Given the description of an element on the screen output the (x, y) to click on. 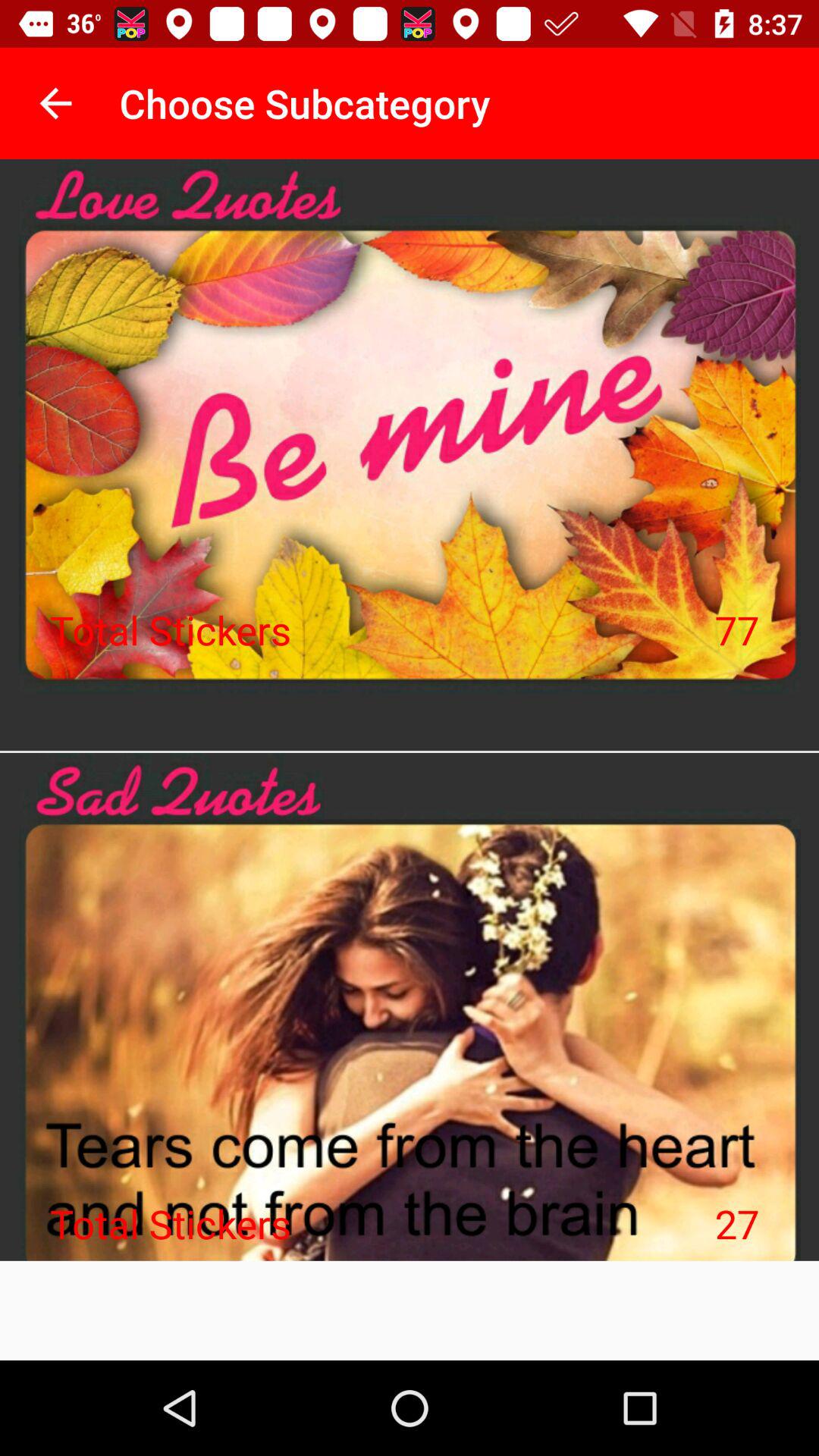
choose the 77 (736, 629)
